Given the description of an element on the screen output the (x, y) to click on. 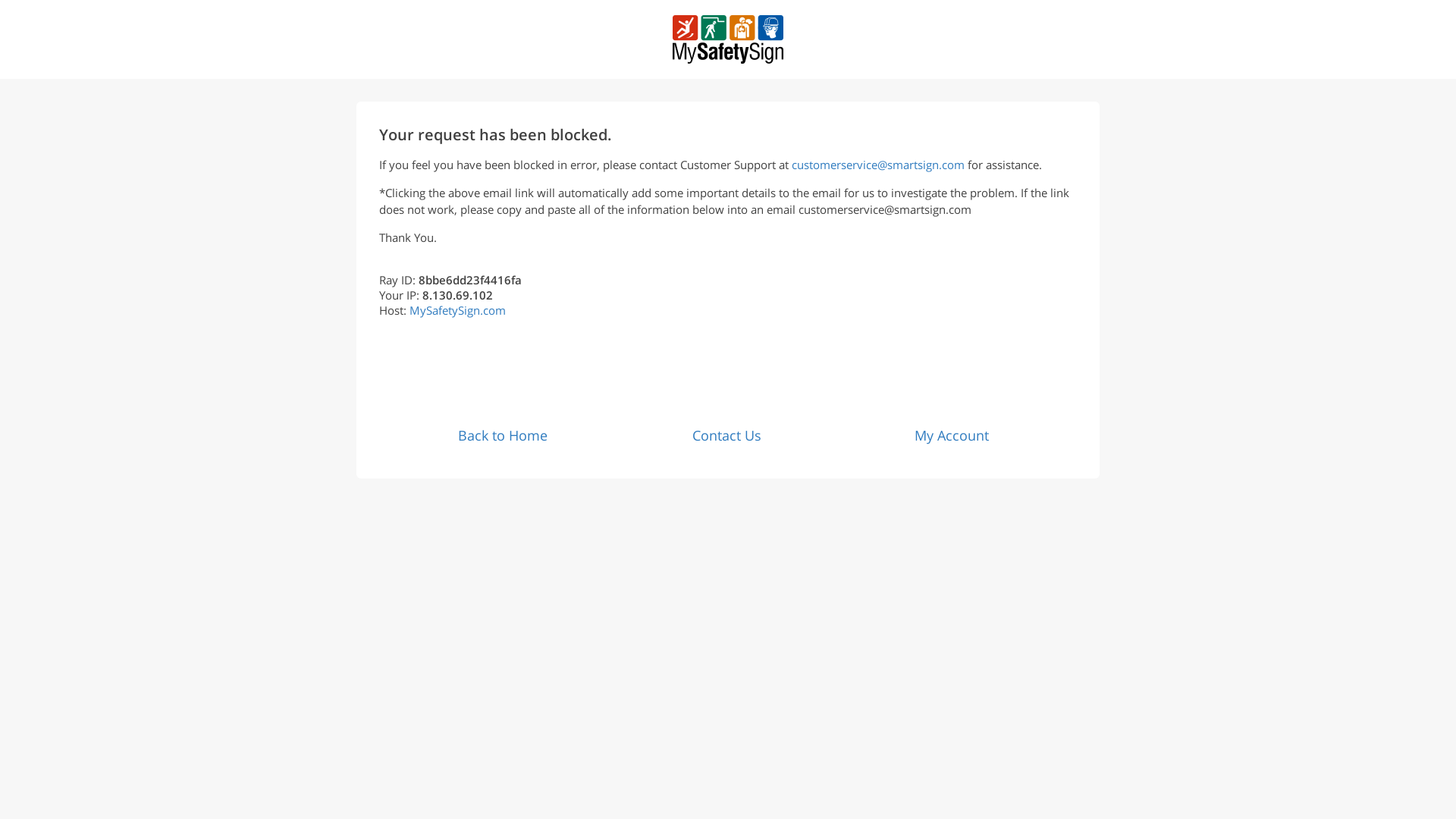
Back to Home (502, 434)
My Account (951, 434)
xpressstamp.com (726, 39)
Contact Us (727, 434)
MySafetySign.com (457, 309)
